Given the description of an element on the screen output the (x, y) to click on. 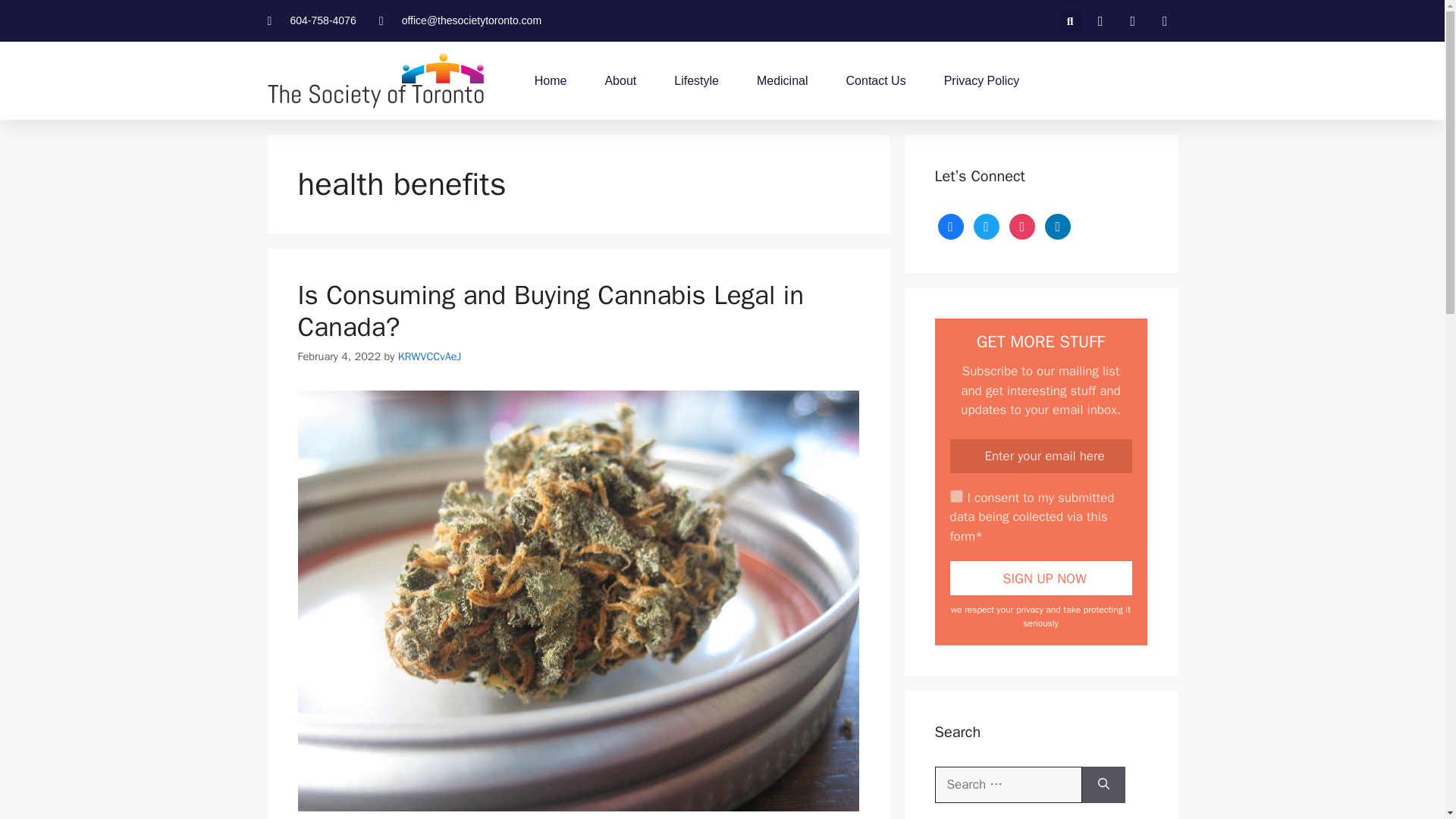
Home (550, 80)
Is Consuming and Buying Cannabis Legal in Canada? (550, 310)
Lifestyle (696, 80)
on (955, 495)
Privacy Policy (981, 80)
About (620, 80)
Sign Up Now (1040, 578)
Search for: (1007, 784)
View all posts by KRWVCCvAeJ (429, 356)
Contact Us (875, 80)
